Given the description of an element on the screen output the (x, y) to click on. 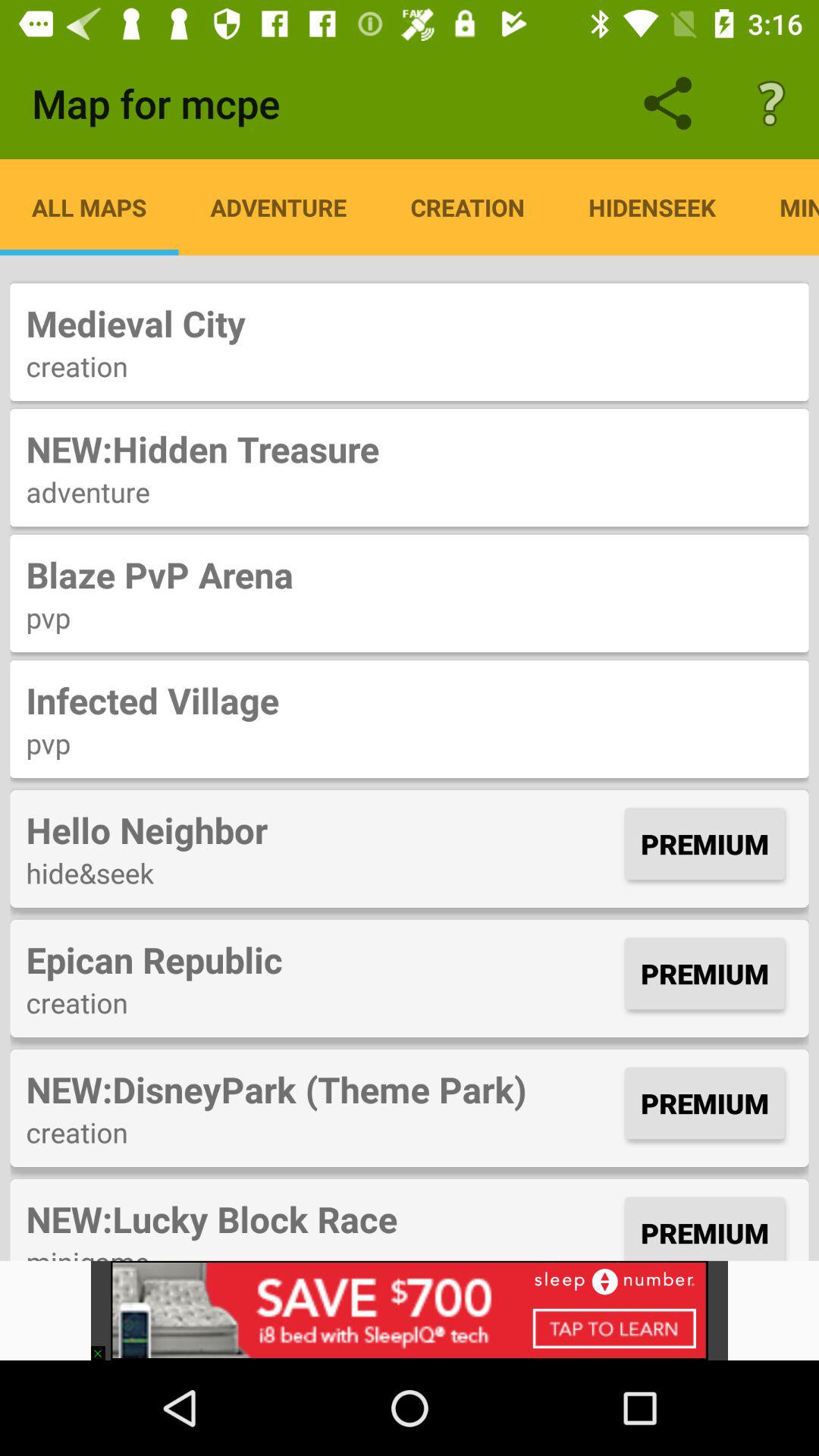
turn on icon above the pvp item (409, 700)
